Given the description of an element on the screen output the (x, y) to click on. 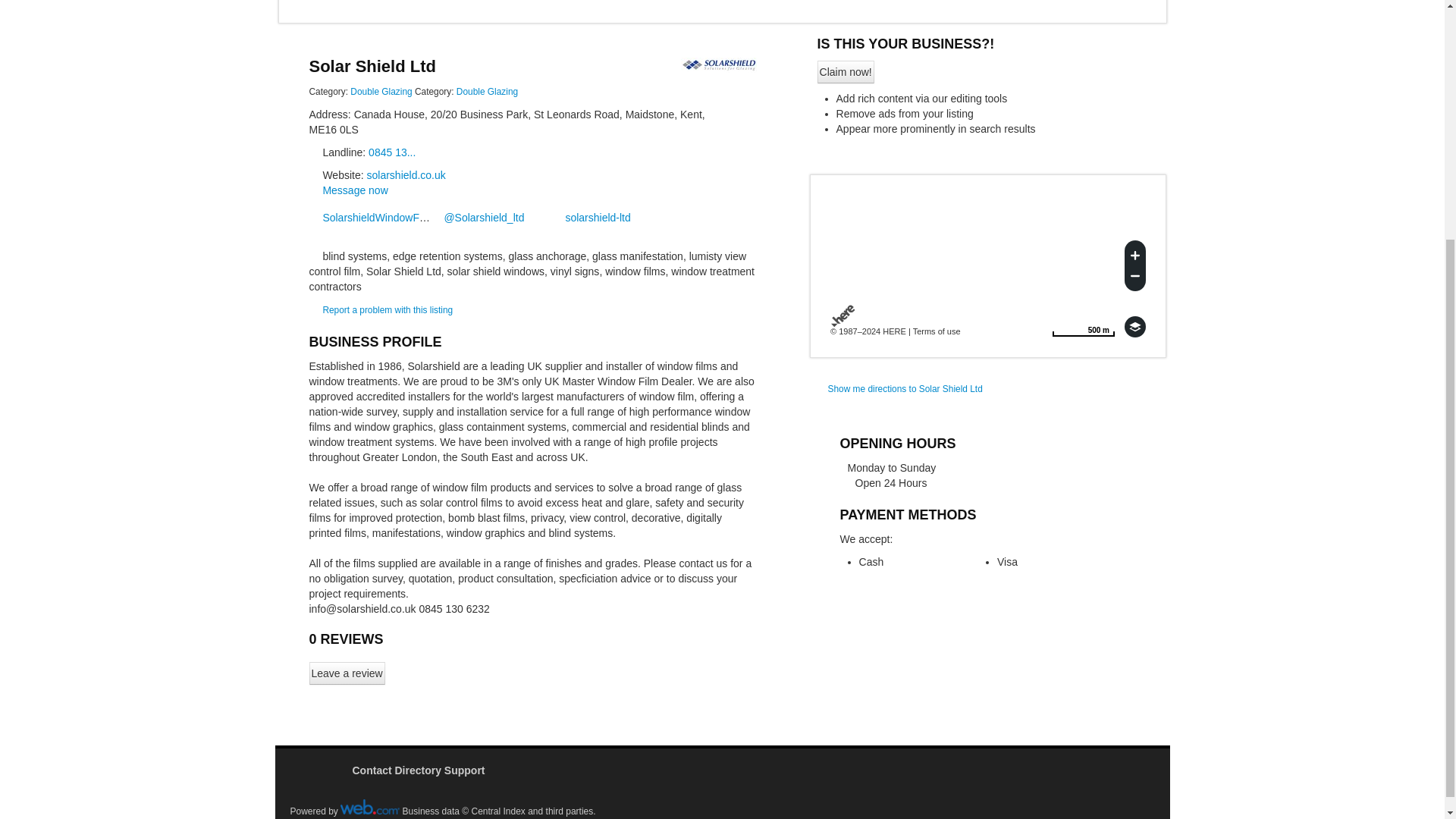
Double Glazing (1083, 326)
Report a problem with this listing (487, 91)
Message now (386, 309)
click to show number (354, 190)
0845 13... (391, 152)
show me more (391, 152)
solarshield-ltd (487, 91)
Change to miles (590, 217)
Terms of use (1083, 326)
Choose view (936, 330)
Claim now! (1134, 326)
show me more (845, 71)
Leave a review (381, 91)
solarshield.co.uk (346, 672)
